Given the description of an element on the screen output the (x, y) to click on. 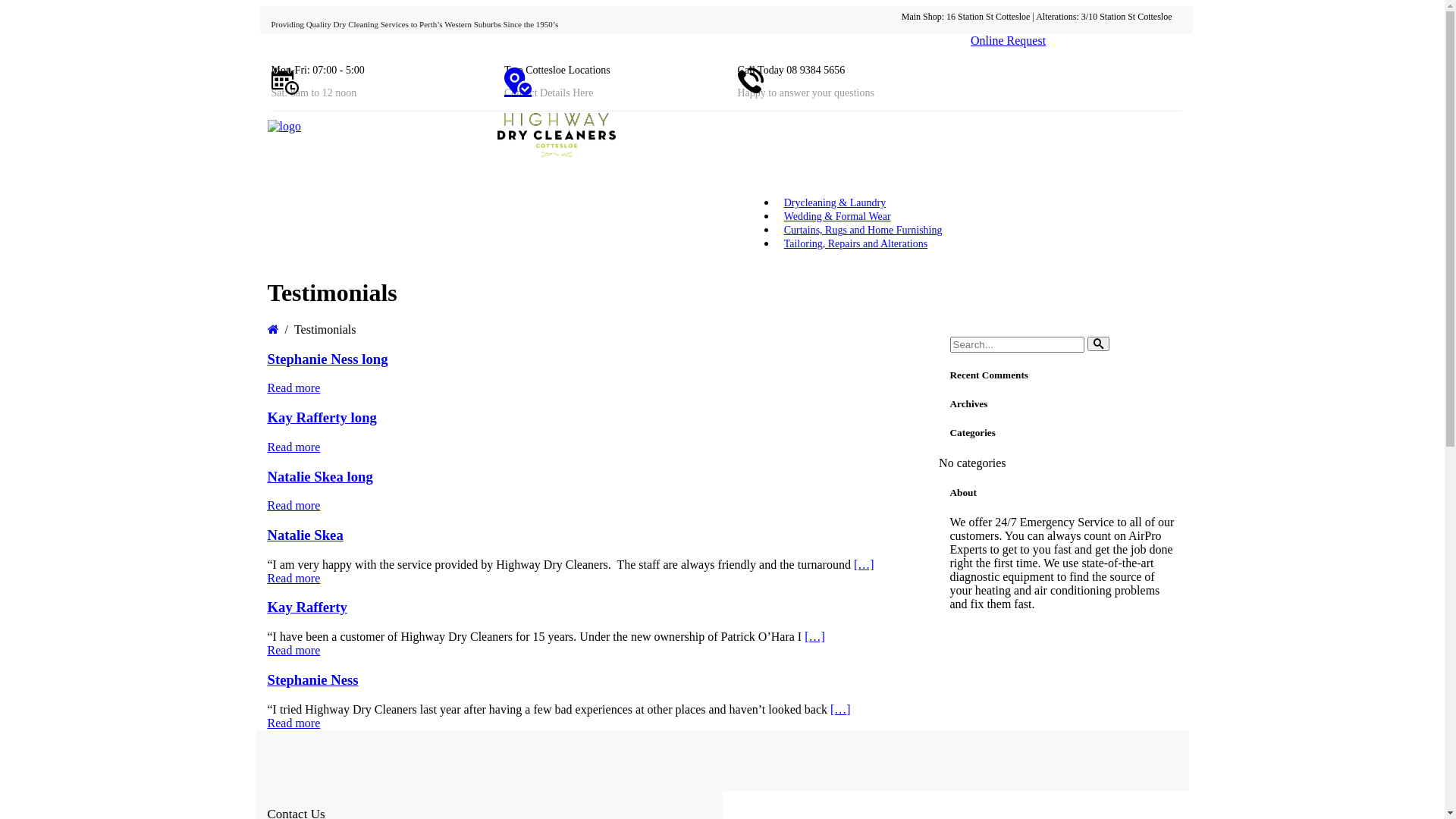
Kay Rafferty Element type: text (306, 607)
Curtains, Rugs and Home Furnishing Element type: text (863, 230)
Drycleaning & Laundry Element type: text (835, 202)
Read more Element type: text (293, 387)
Natalie Skea long Element type: text (319, 476)
Stephanie Ness long Element type: text (326, 359)
Contact Details Here Element type: text (548, 92)
Read more Element type: text (293, 722)
Read more Element type: text (293, 446)
Read more Element type: text (293, 577)
Stephanie Ness Element type: text (311, 679)
Two Cottesloe Locations Element type: text (557, 69)
Online Request Element type: text (1007, 40)
Read more Element type: text (293, 504)
Natalie Skea Element type: text (304, 534)
Tailoring, Repairs and Alterations Element type: text (855, 243)
Read more Element type: text (293, 649)
Kay Rafferty long Element type: text (321, 417)
Wedding & Formal Wear Element type: text (837, 216)
Highway Drycleaners LOGO - no BG1 Element type: hover (283, 126)
